Given the description of an element on the screen output the (x, y) to click on. 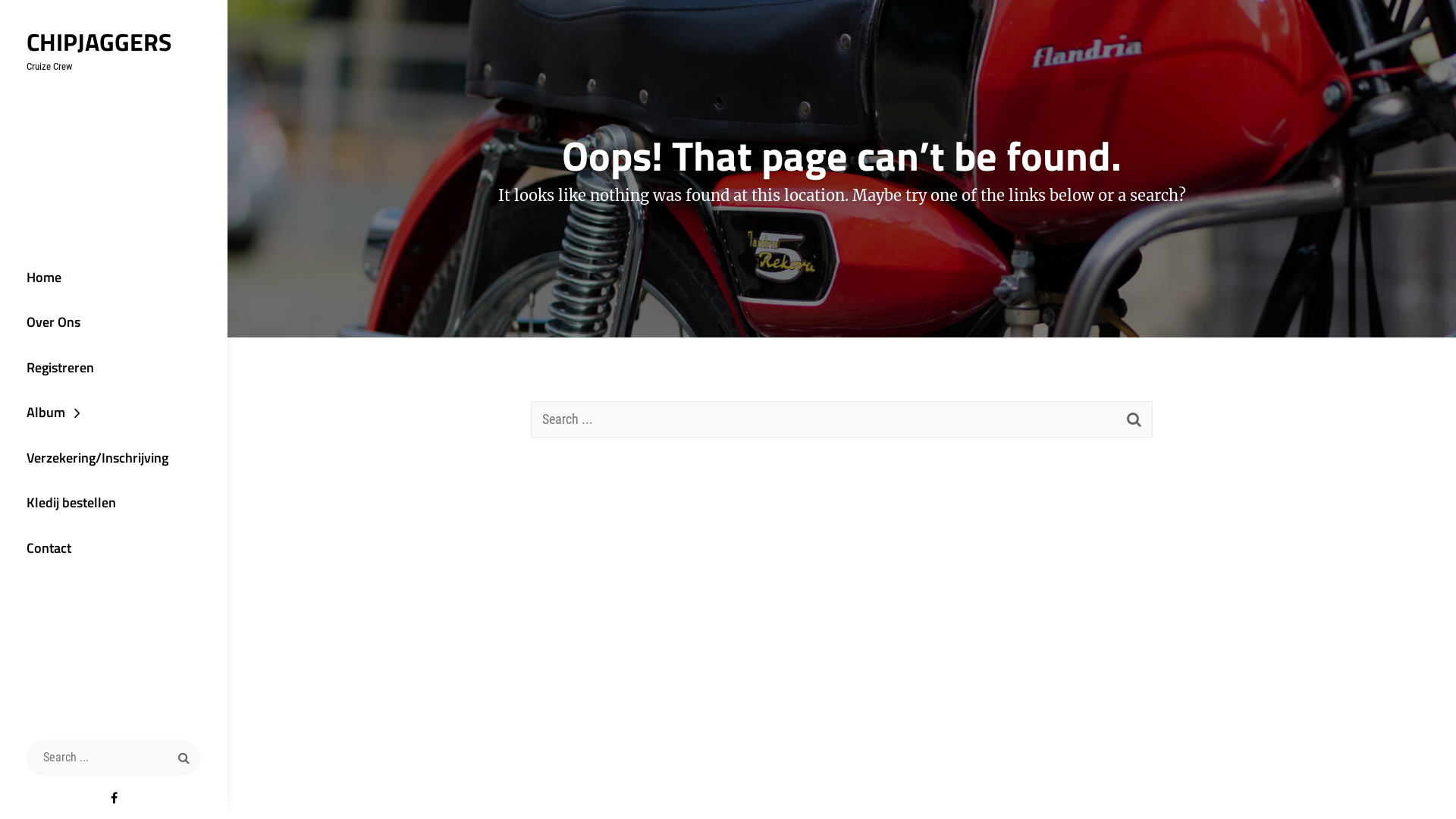
Verzekering/Inschrijving Element type: text (113, 457)
Registreren Element type: text (113, 367)
Search for: Element type: hover (841, 418)
Over Ons Element type: text (113, 322)
Search for: Element type: hover (113, 757)
Home Element type: text (113, 277)
CHIPJAGGERS Element type: text (98, 41)
Facebook Element type: text (114, 797)
Album Element type: text (113, 412)
Kledij bestellen Element type: text (113, 502)
Contact Element type: text (113, 548)
